Given the description of an element on the screen output the (x, y) to click on. 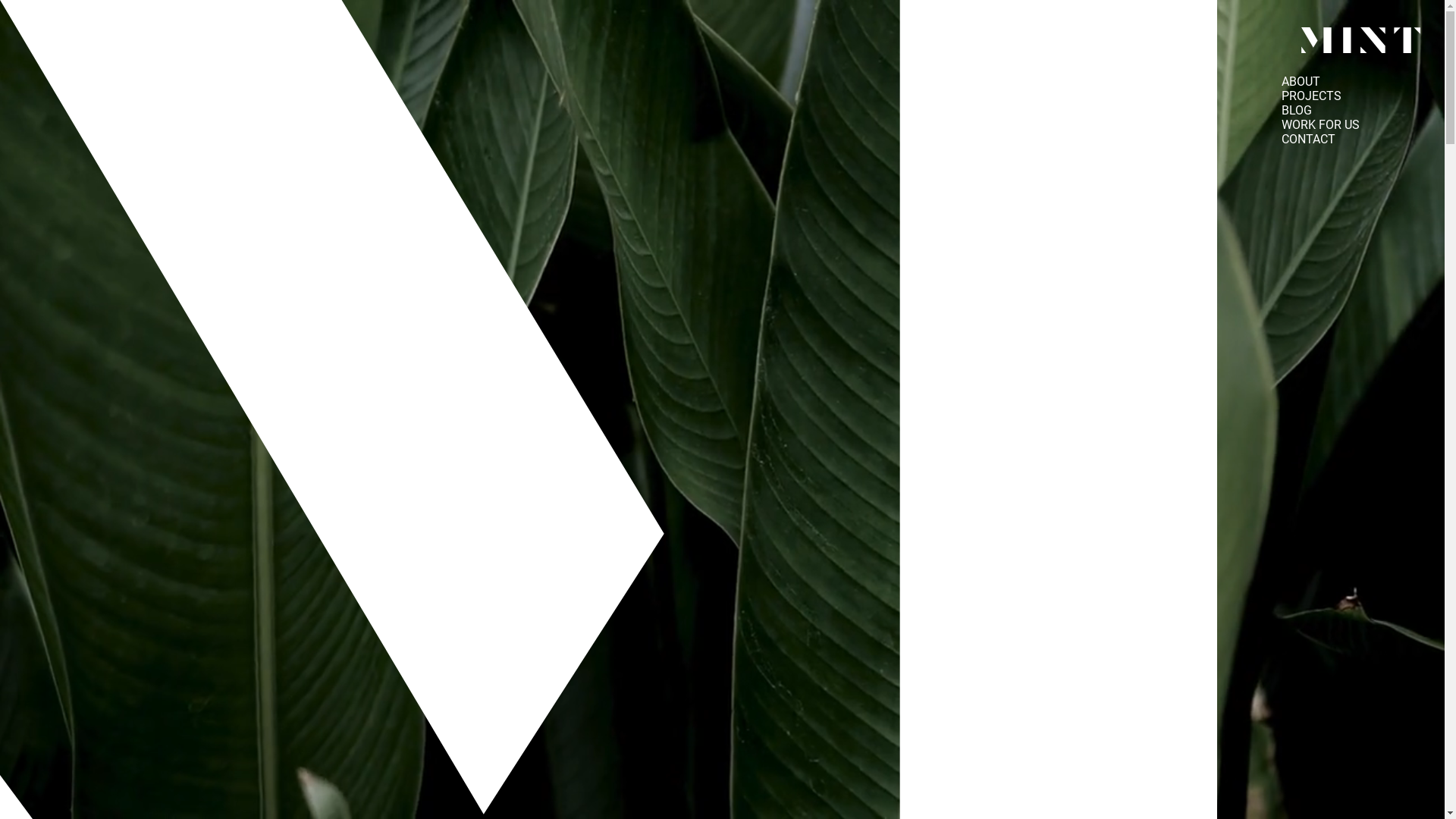
PROJECTS Element type: text (1311, 95)
CONTACT Element type: text (1308, 138)
ABOUT Element type: text (1300, 81)
BLOG Element type: text (1296, 110)
WORK FOR US Element type: text (1320, 124)
